Given the description of an element on the screen output the (x, y) to click on. 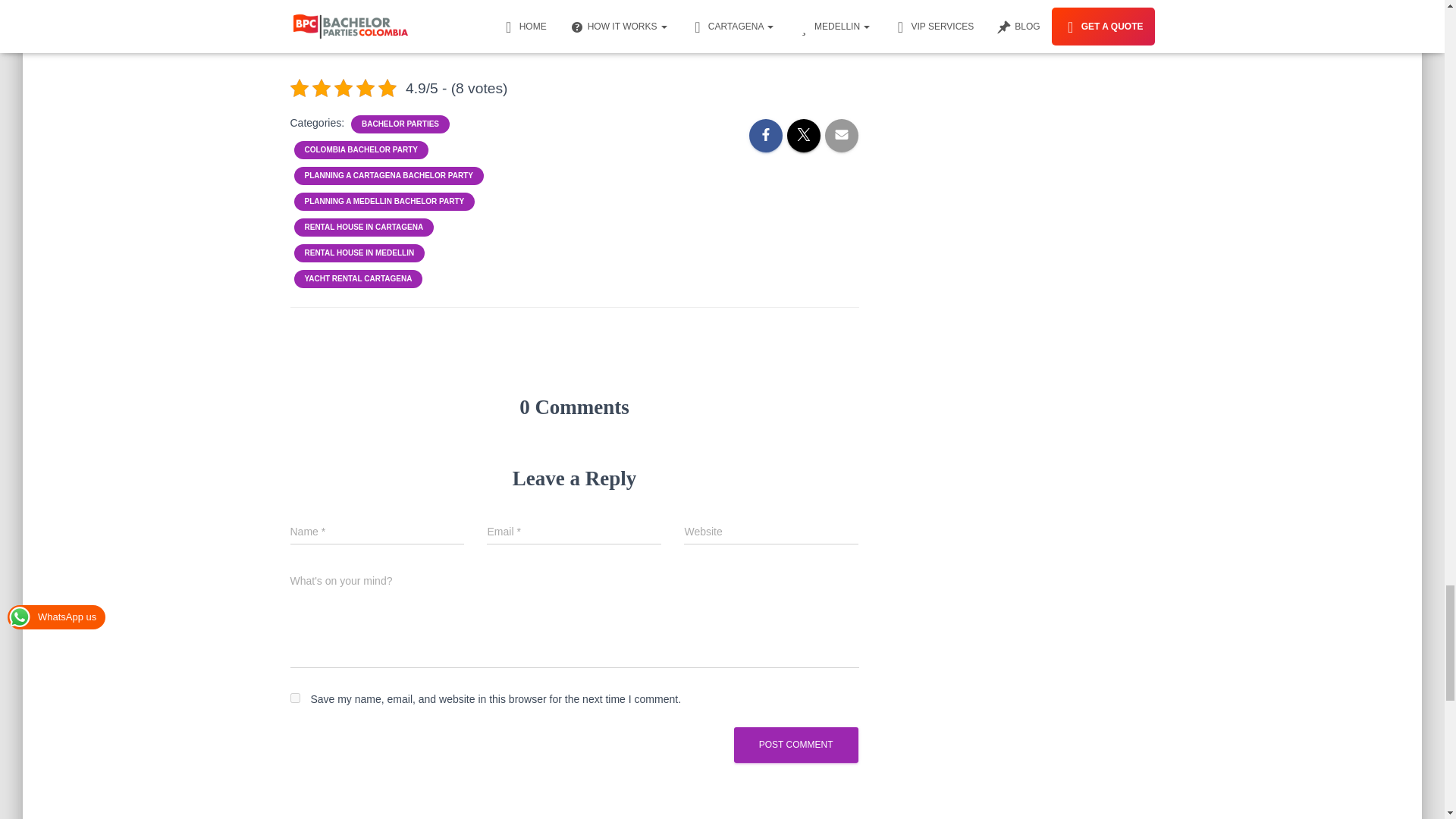
PLANNING A MEDELLIN BACHELOR PARTY (383, 201)
yes (294, 697)
RENTAL HOUSE IN MEDELLIN (359, 253)
YACHT RENTAL CARTAGENA (357, 278)
Post Comment (796, 744)
COLOMBIA BACHELOR PARTY (360, 149)
Facebook (528, 13)
PLANNING A CARTAGENA BACHELOR PARTY (388, 175)
RENTAL HOUSE IN CARTAGENA (363, 226)
WhatsApp (590, 13)
Twitter (559, 13)
Share (619, 13)
BACHELOR PARTIES (400, 123)
